Given the description of an element on the screen output the (x, y) to click on. 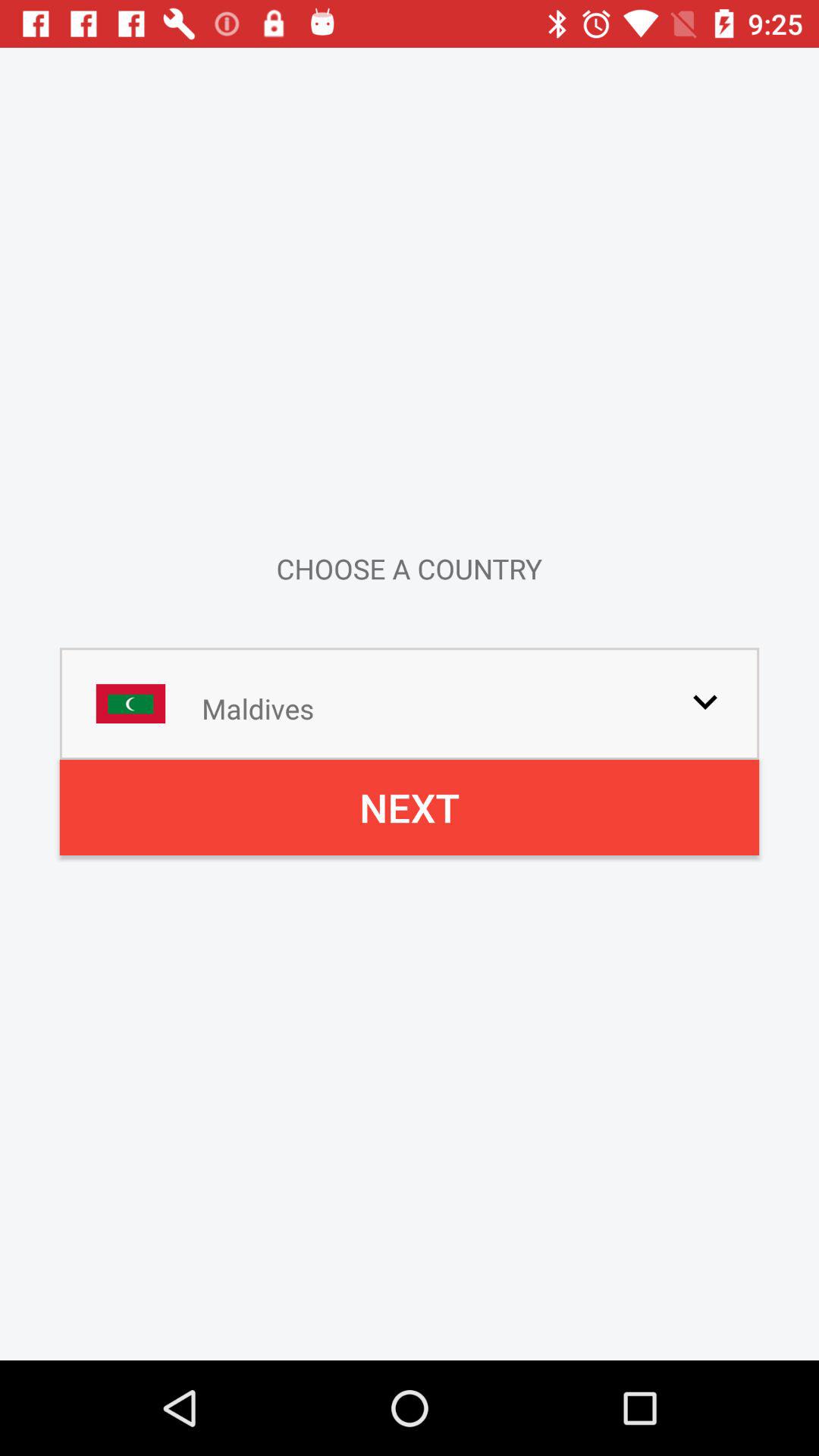
open the icon to the right of maldives icon (705, 701)
